Given the description of an element on the screen output the (x, y) to click on. 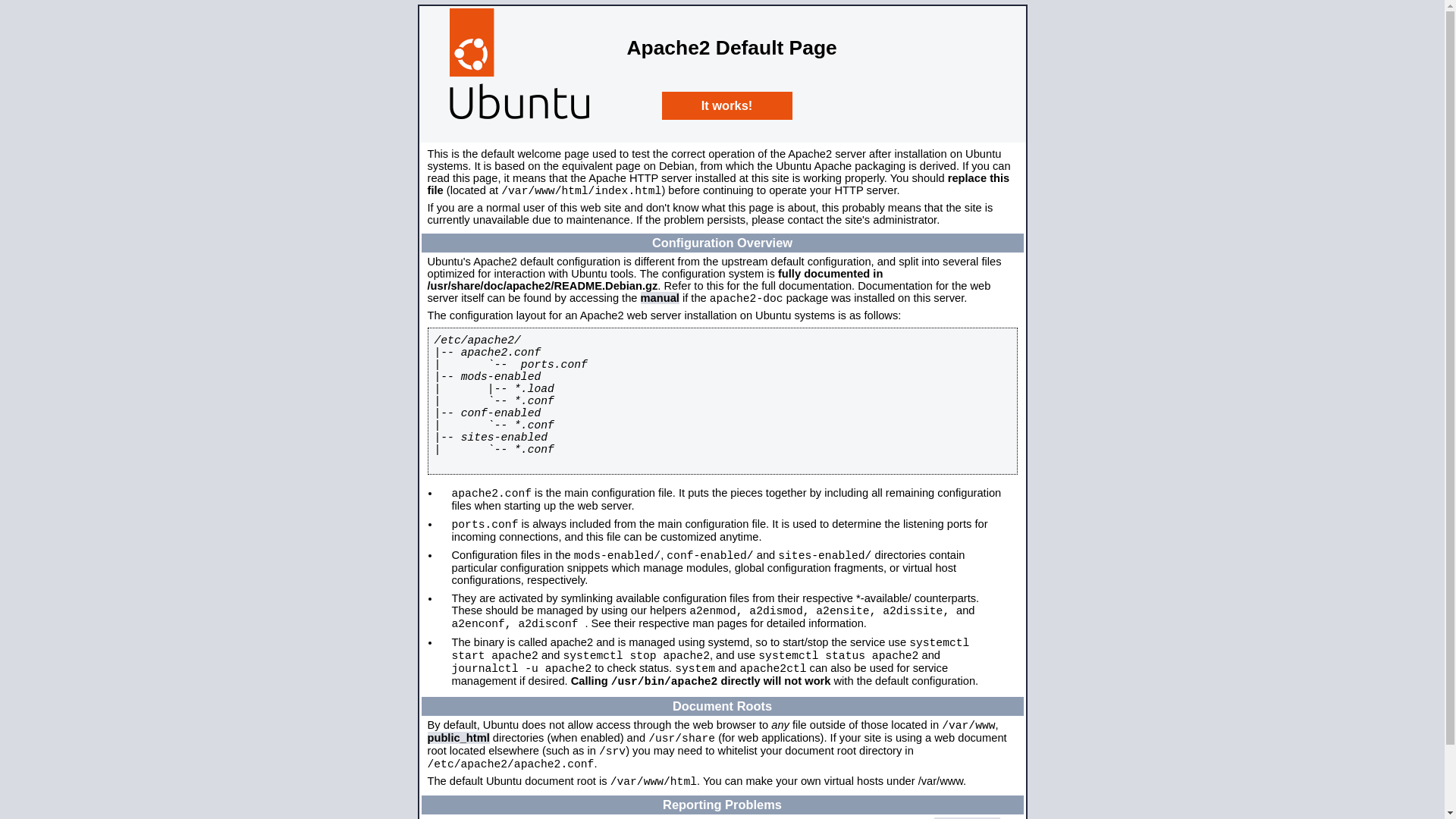
manual Element type: text (659, 297)
public_html Element type: text (458, 737)
